Given the description of an element on the screen output the (x, y) to click on. 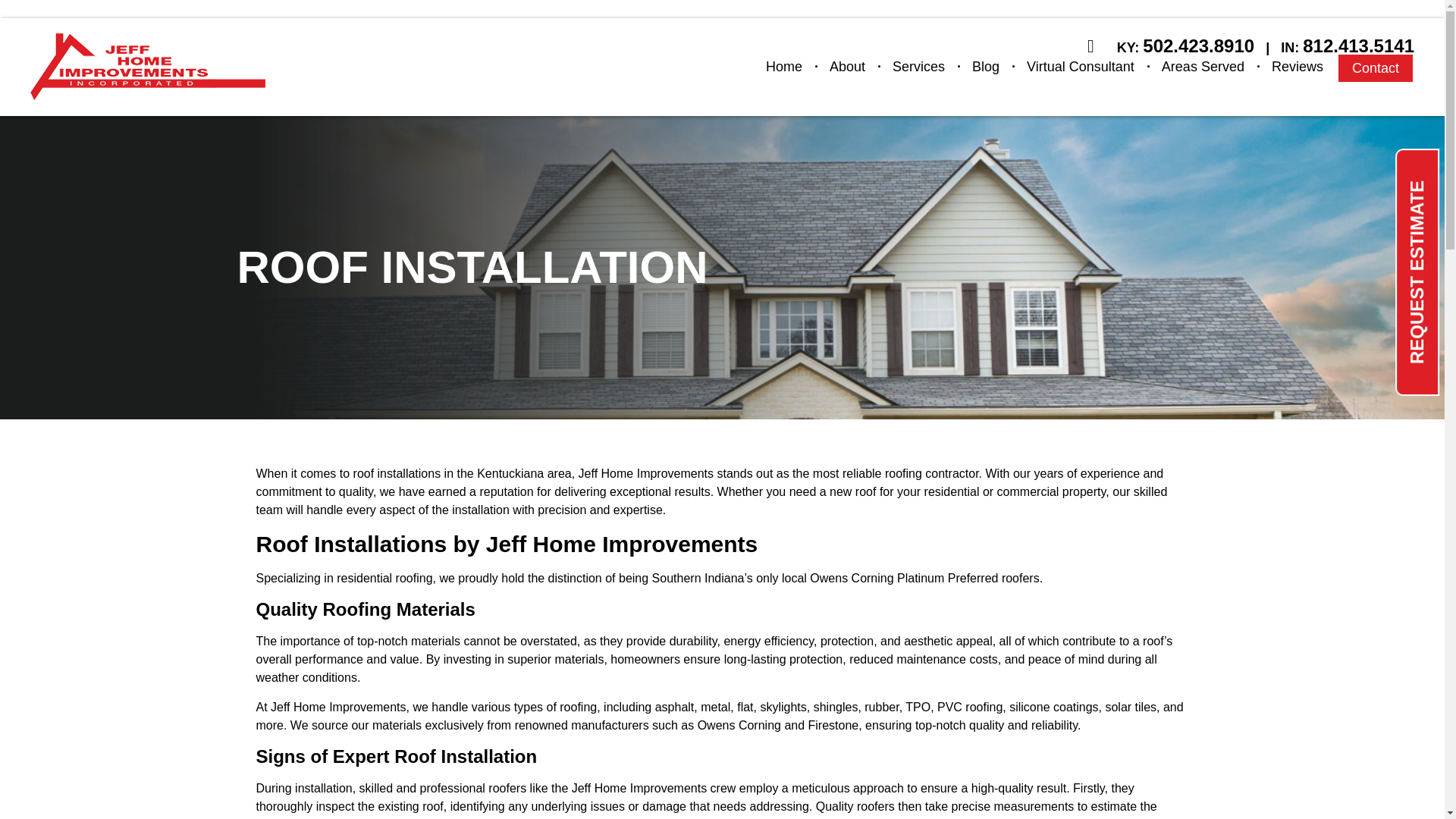
812.413.5141 (1358, 46)
Services (918, 66)
About (847, 66)
502.423.8910 (1197, 46)
Home (783, 66)
